Given the description of an element on the screen output the (x, y) to click on. 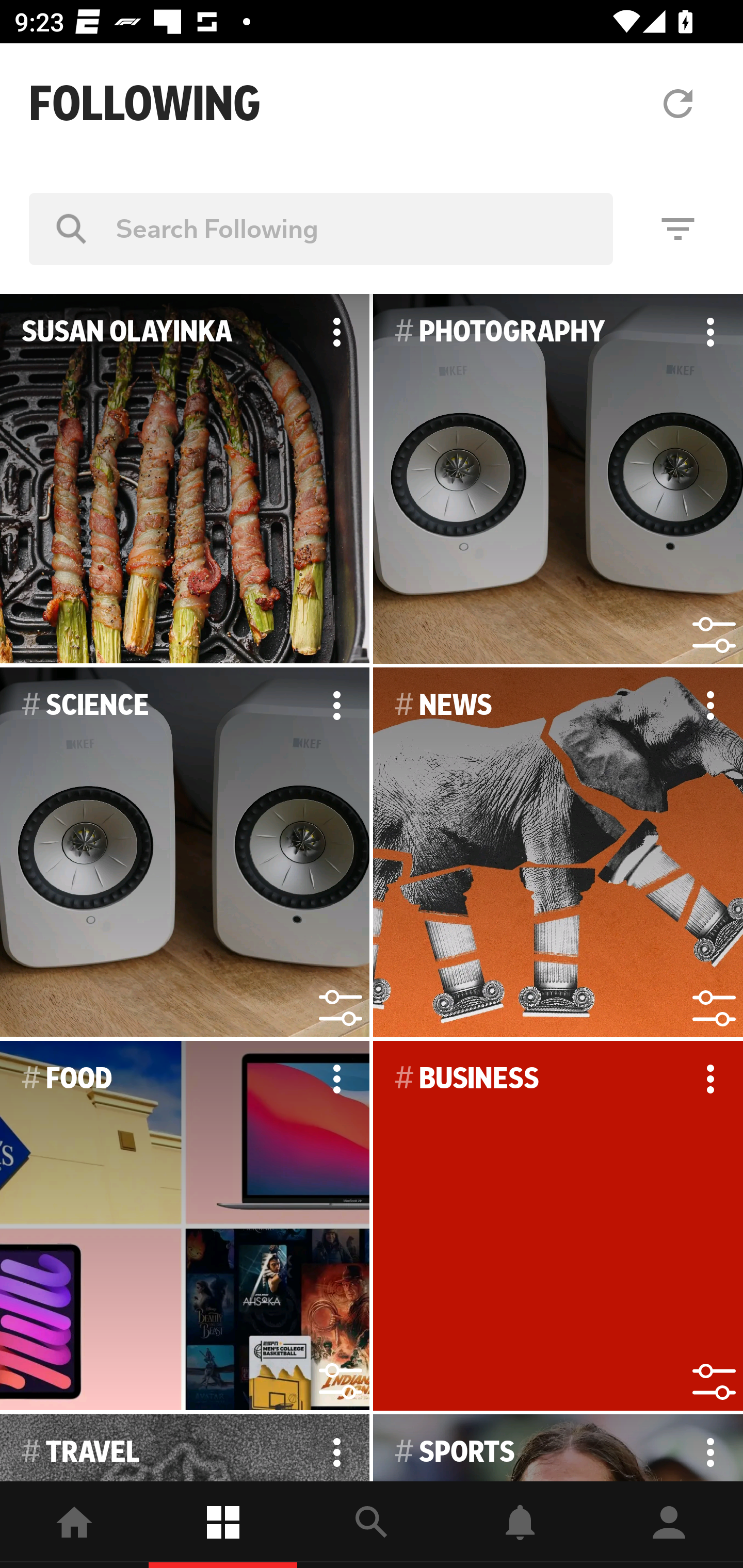
Search Following (320, 228)
SUSAN OLAYINKA Options (184, 478)
Options (336, 332)
# PHOTOGRAPHY Options (557, 478)
Options (710, 332)
# SCIENCE Options (184, 852)
Options (336, 705)
# NEWS Options (557, 852)
Options (710, 705)
# FOOD Options (184, 1226)
Options (336, 1078)
# BUSINESS Options (557, 1226)
Options (710, 1078)
home (74, 1524)
Following (222, 1524)
explore (371, 1524)
Notifications (519, 1524)
Profile (668, 1524)
